Given the description of an element on the screen output the (x, y) to click on. 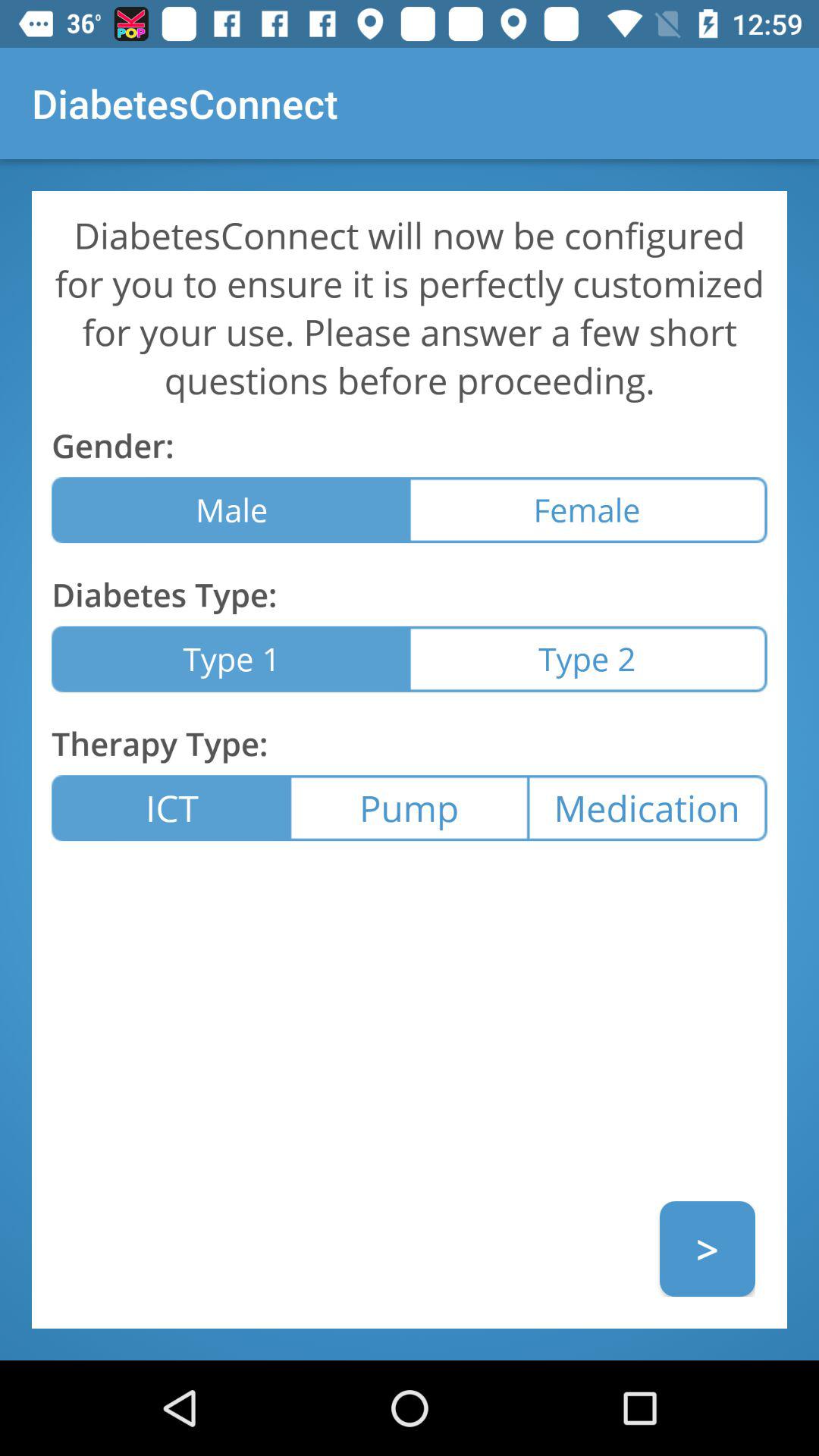
open the item below the diabetesconnect will now item (588, 510)
